Given the description of an element on the screen output the (x, y) to click on. 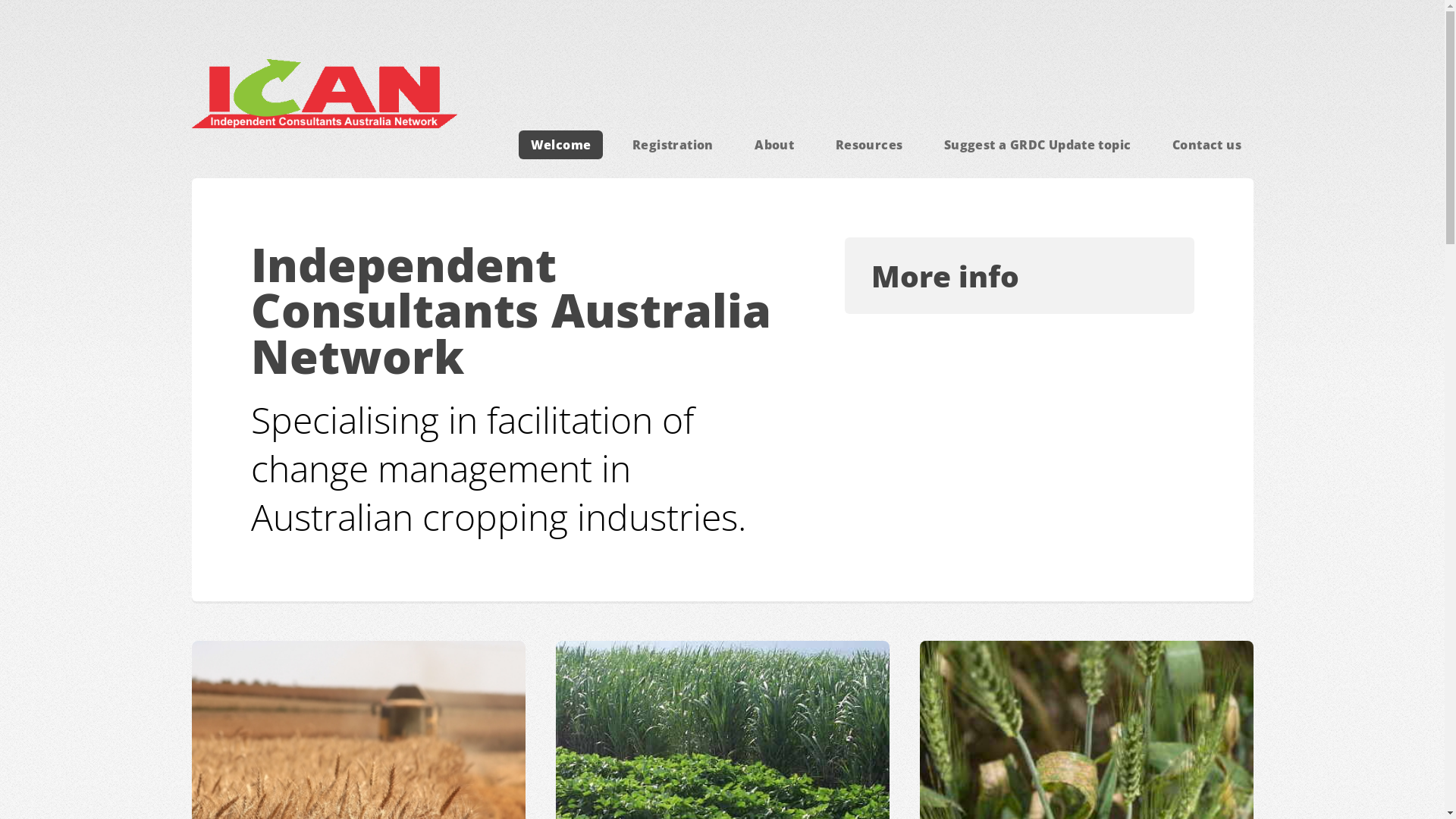
Welcome Element type: text (560, 144)
More info Element type: text (1018, 274)
Suggest a GRDC Update topic Element type: text (1036, 144)
Contact us Element type: text (1206, 144)
Resources Element type: text (868, 144)
Registration Element type: text (672, 144)
About Element type: text (774, 144)
